Given the description of an element on the screen output the (x, y) to click on. 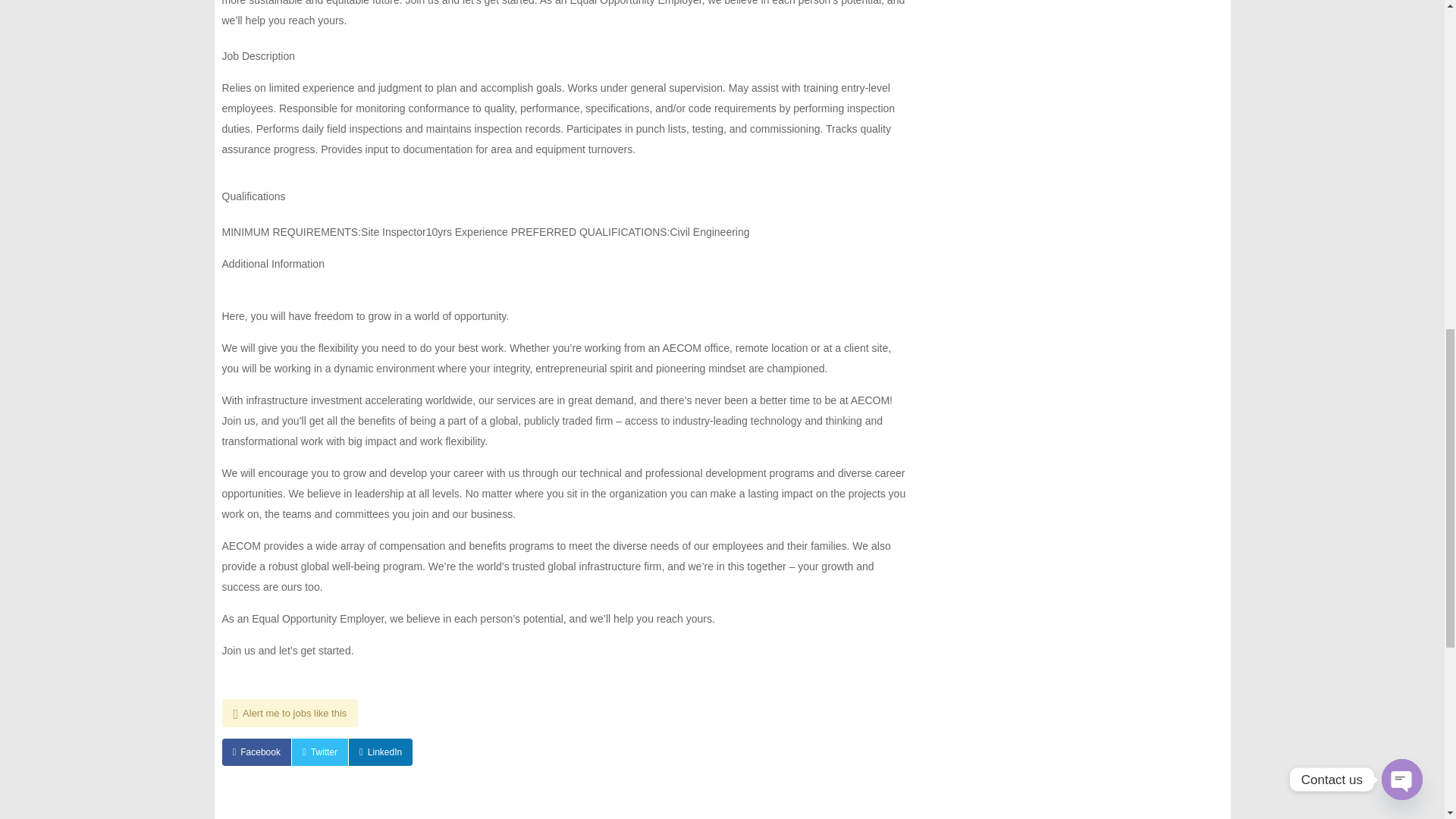
Alert me to jobs like this (289, 713)
Facebook (255, 751)
LinkedIn (380, 751)
Twitter (319, 751)
Twitter (319, 751)
